Given the description of an element on the screen output the (x, y) to click on. 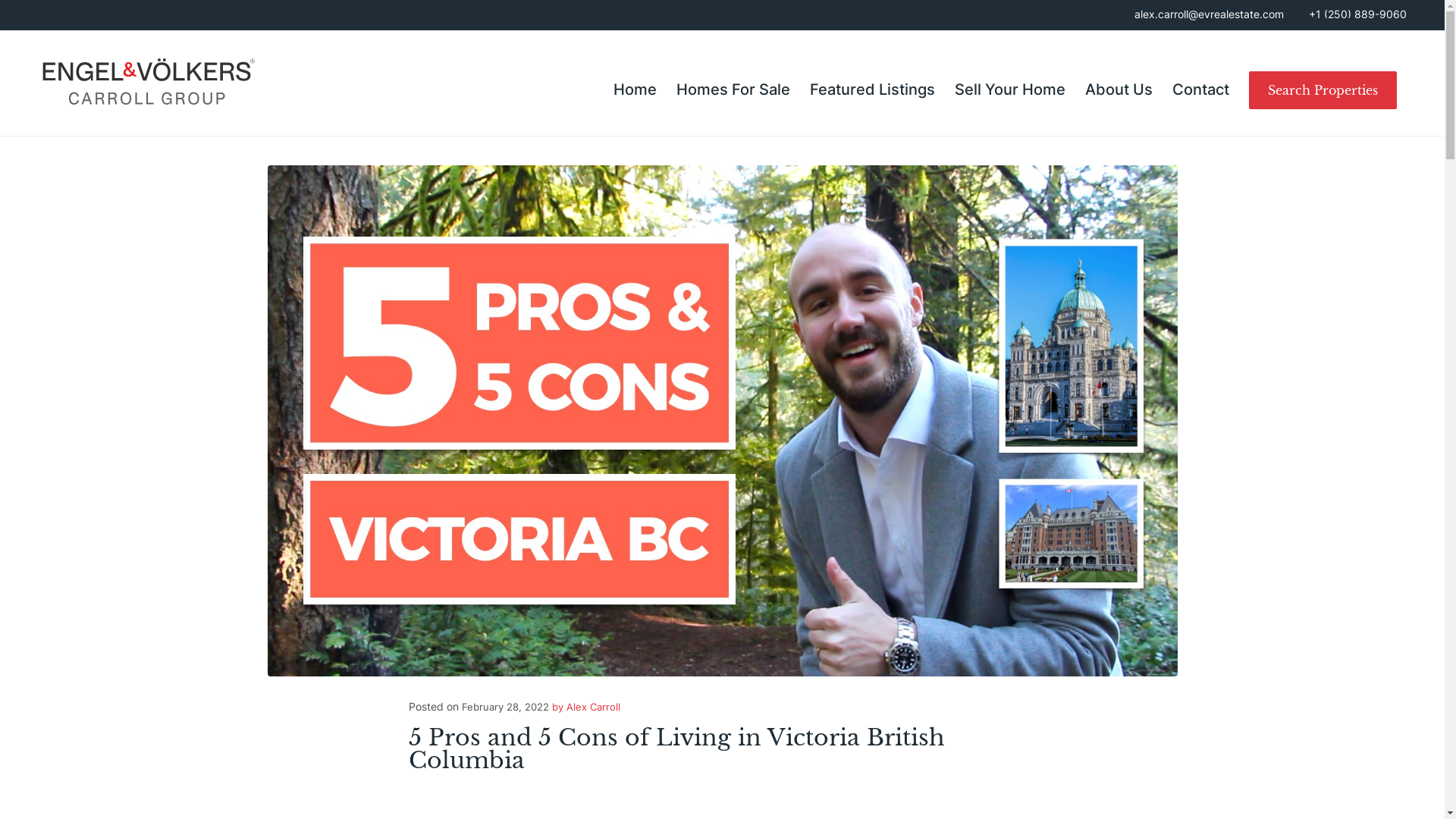
About Us Element type: text (1118, 89)
Featured Listings Element type: text (872, 89)
Search Properties Element type: text (1322, 89)
Contact Element type: text (1200, 89)
Five-pros-cons-victoria-bc Element type: hover (721, 420)
Alex Carroll Element type: text (592, 706)
Sell Your Home Element type: text (1009, 89)
teamlogo-carrollgroup-color-v4 Element type: hover (146, 81)
alex.carroll@evrealestate.com Element type: text (1208, 13)
Homes For Sale Element type: text (733, 89)
Home Element type: text (634, 89)
+1 (250) 889-9060 Element type: text (1357, 13)
